Given the description of an element on the screen output the (x, y) to click on. 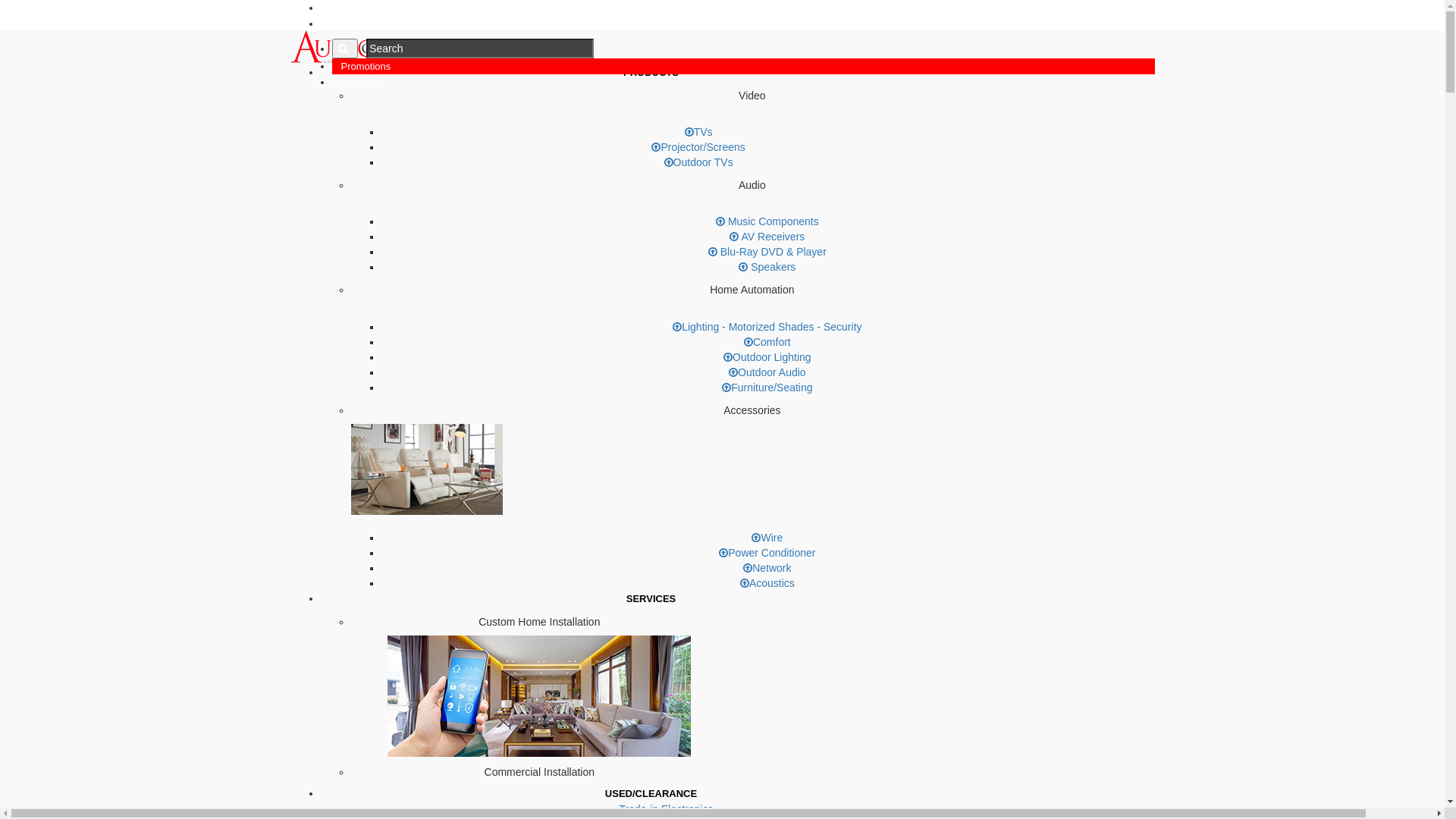
Promotions Element type: text (365, 66)
Outdoor Lighting Element type: text (767, 357)
Lighting - Motorized Shades - Security Element type: text (766, 326)
Acoustics Element type: text (767, 583)
Outdoor Audio Element type: text (767, 372)
Projector/Screens Element type: text (697, 147)
Furniture/Seating Element type: text (766, 387)
Trade-in Electronics Element type: text (665, 809)
Network Element type: text (766, 567)
Comfort Element type: text (766, 341)
Music Components Element type: text (767, 221)
Blu-Ray DVD & Player Element type: text (767, 251)
+1(416) 665-0749 Element type: text (366, 7)
USED/CLEARANCE Element type: text (650, 793)
Wire Element type: text (766, 537)
Outdoor TVs Element type: text (698, 162)
AV Receivers Element type: text (766, 236)
TVs Element type: text (698, 131)
Power Conditioner Element type: text (766, 552)
PRODUCTS Element type: text (650, 72)
Speakers Element type: text (766, 266)
SERVICES Element type: text (651, 598)
Contact Us Element type: text (356, 81)
